Given the description of an element on the screen output the (x, y) to click on. 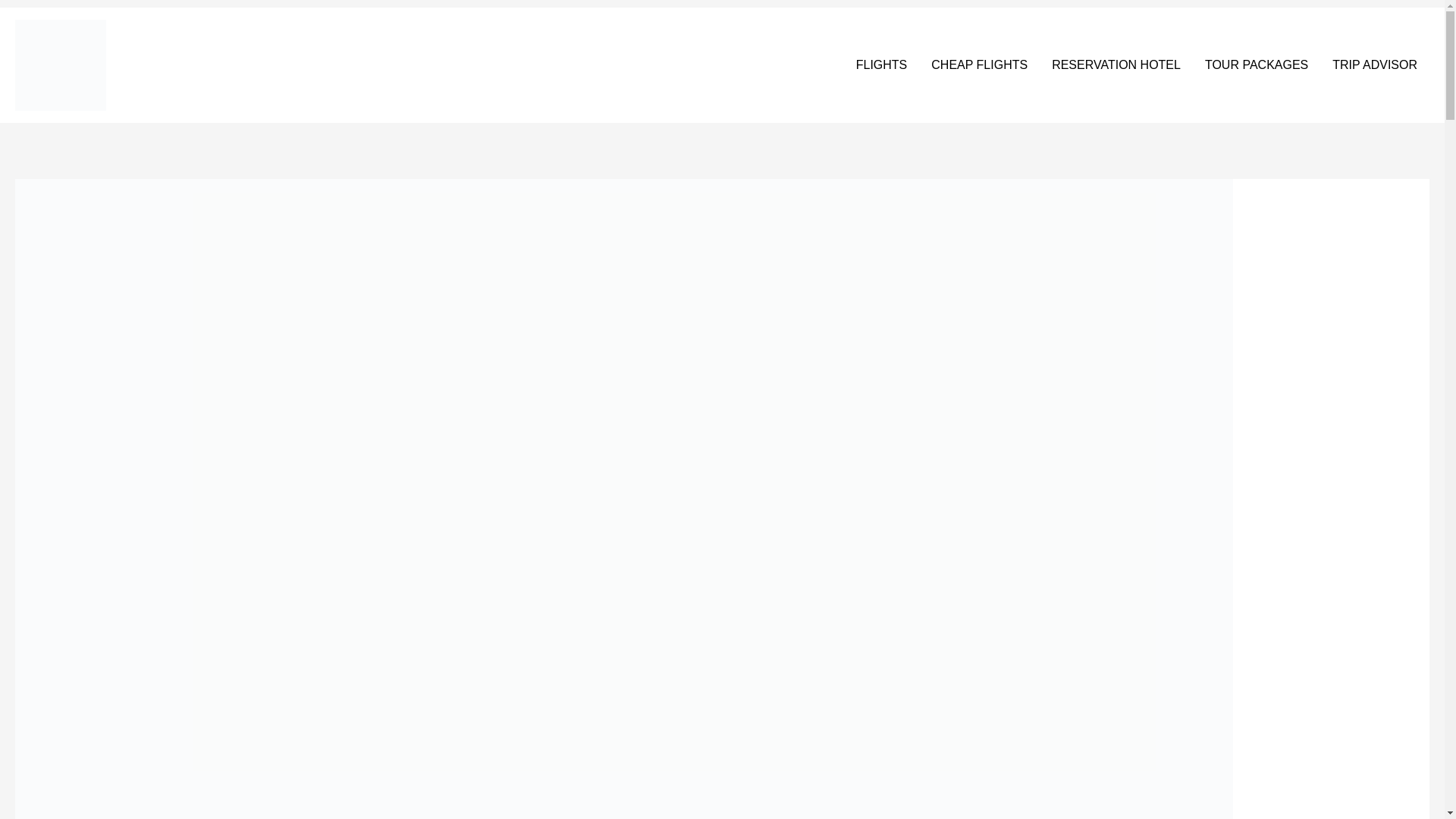
RESERVATION HOTEL (1115, 65)
CHEAP FLIGHTS (978, 65)
TRIP ADVISOR (1374, 65)
TOUR PACKAGES (1256, 65)
FLIGHTS (882, 65)
